Given the description of an element on the screen output the (x, y) to click on. 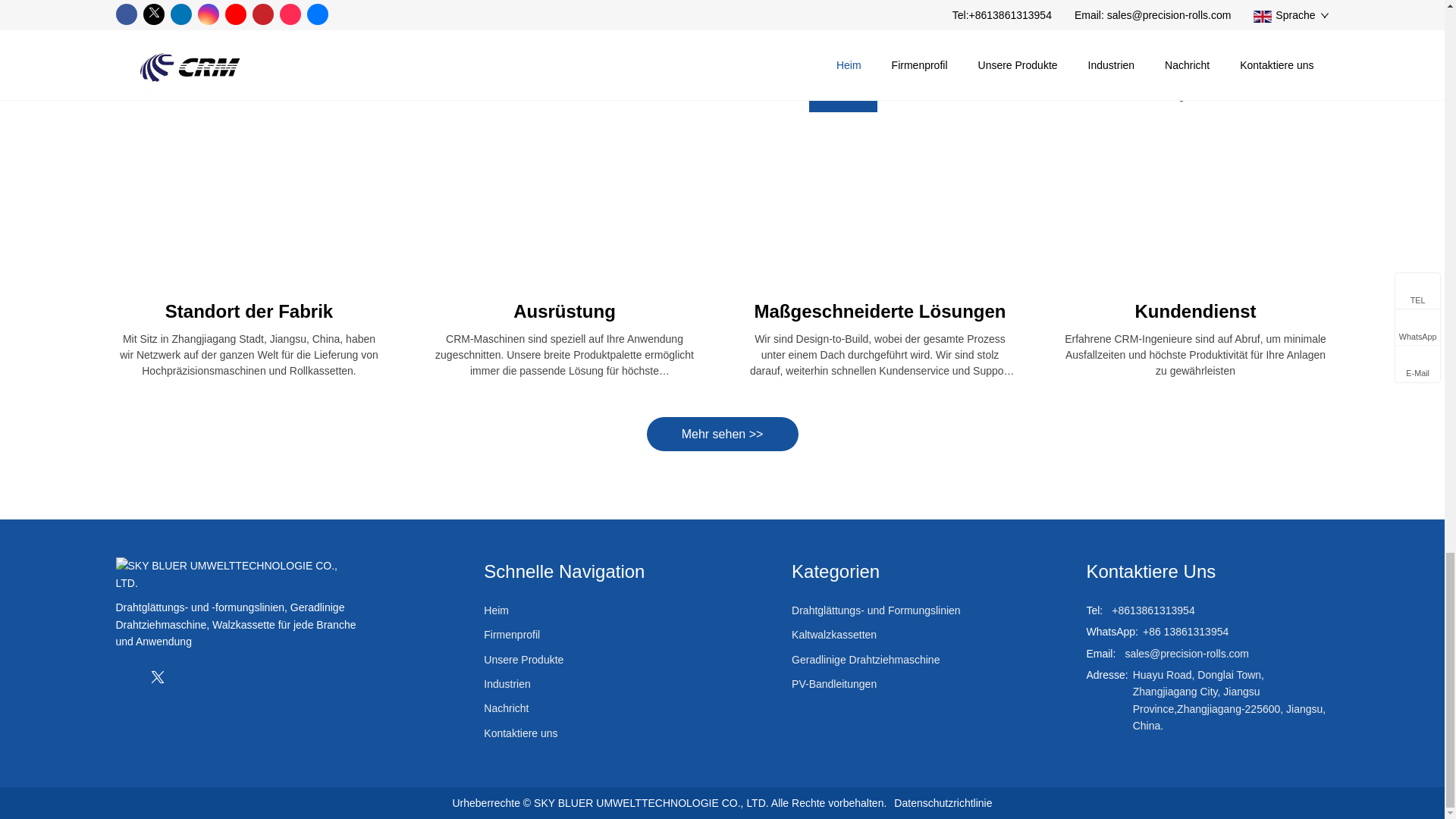
linkedin (187, 676)
instagram (217, 676)
facebook (126, 676)
youtube (247, 676)
twitter (156, 676)
